Given the description of an element on the screen output the (x, y) to click on. 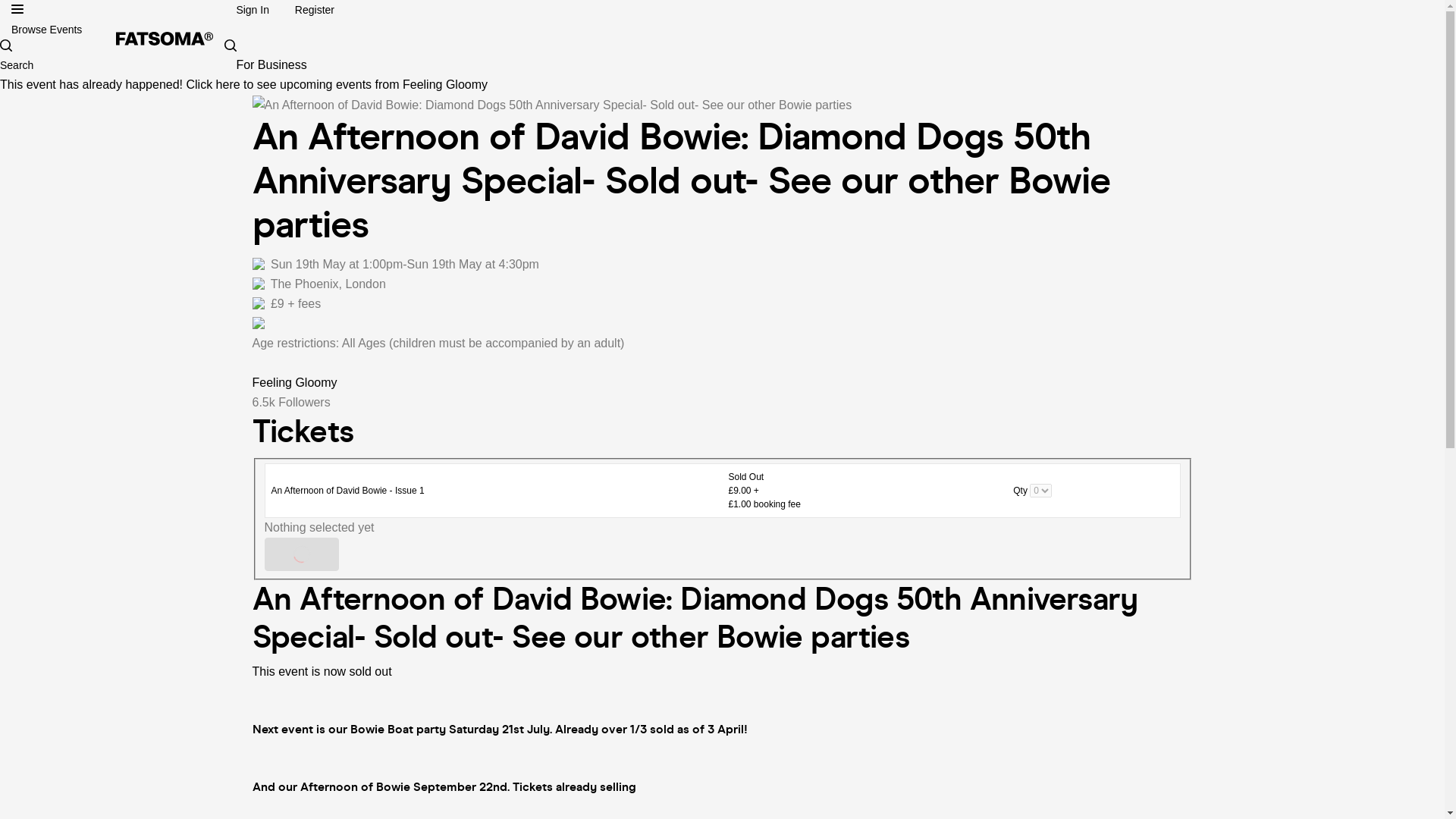
Fatsoma (164, 37)
Fatsoma (164, 38)
Register (314, 9)
Search (52, 62)
Loading... (300, 553)
Feeling Gloomy (293, 382)
For Business (270, 64)
Sign In (252, 9)
Browse Events (46, 29)
